Given the description of an element on the screen output the (x, y) to click on. 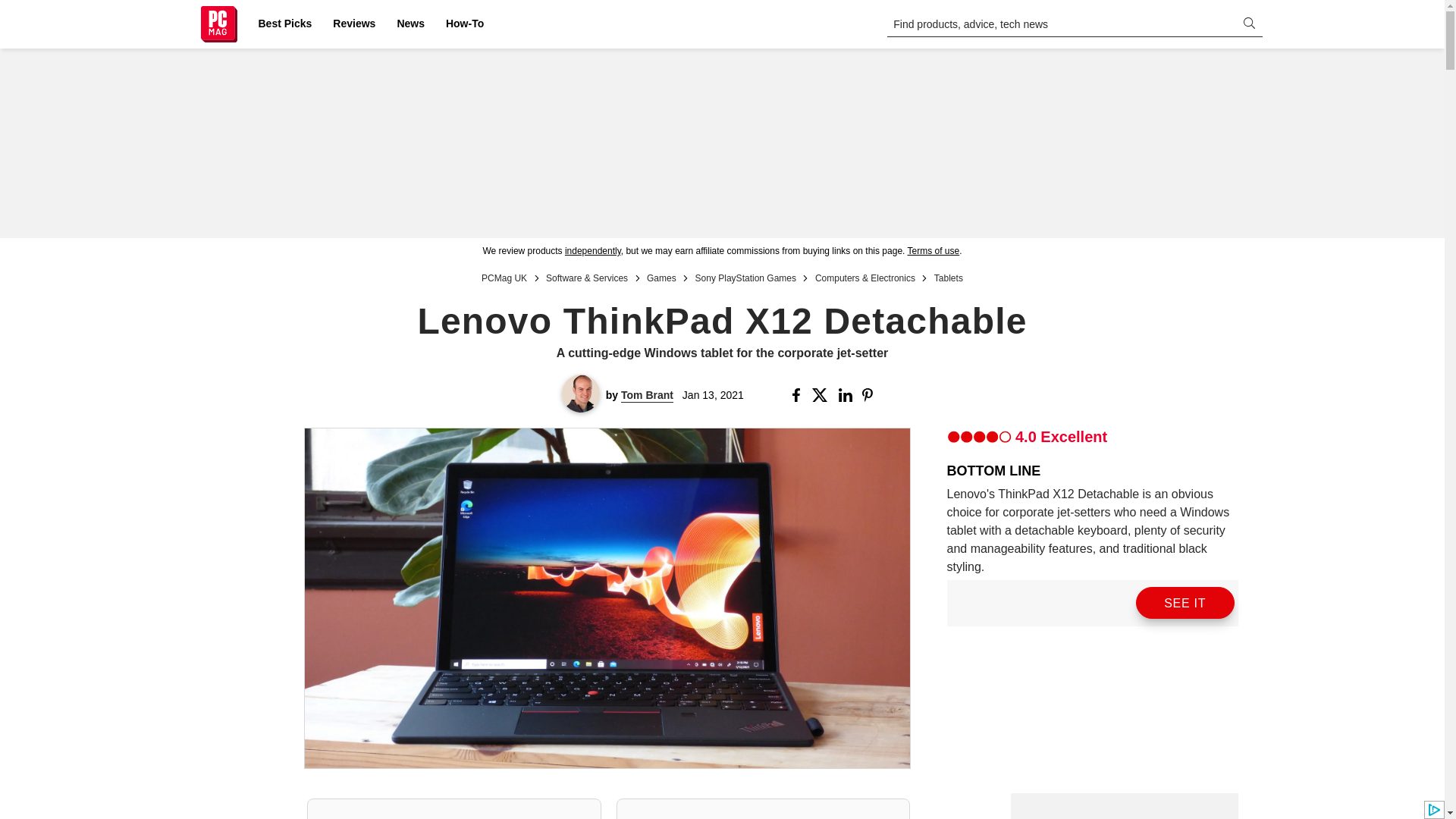
Share this Story on Facebook (799, 395)
Share this Story on Pinterest (871, 395)
Best Picks (284, 24)
Share this Story on X (822, 395)
Share this Story on Linkedin (847, 395)
